Given the description of an element on the screen output the (x, y) to click on. 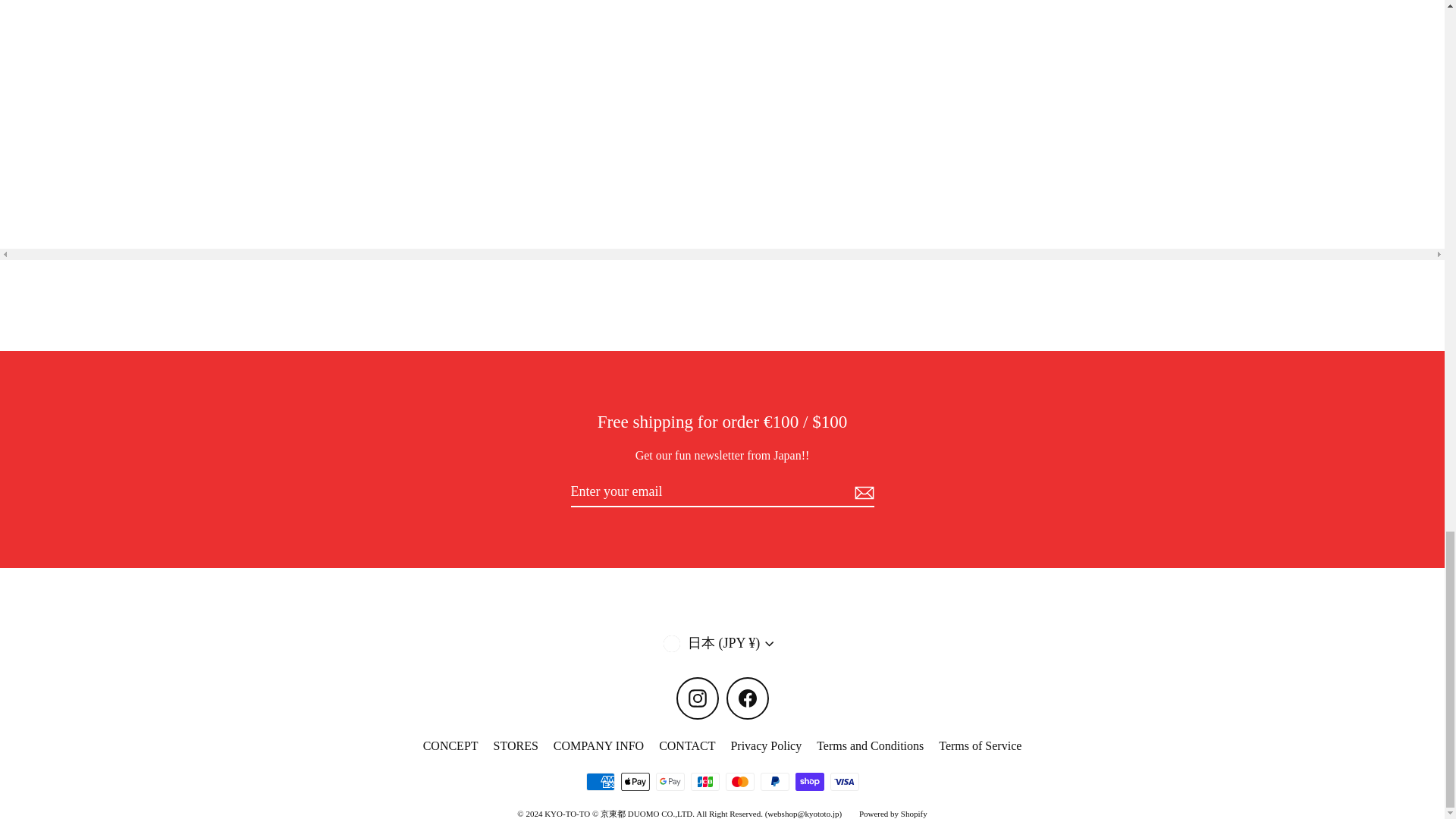
KYO-TO-TO on Facebook (747, 698)
Google Pay (669, 782)
Mastercard (739, 782)
JCB (704, 782)
PayPal (774, 782)
Apple Pay (634, 782)
KYO-TO-TO on Instagram (698, 698)
Shop Pay (809, 782)
American Express (599, 782)
